Given the description of an element on the screen output the (x, y) to click on. 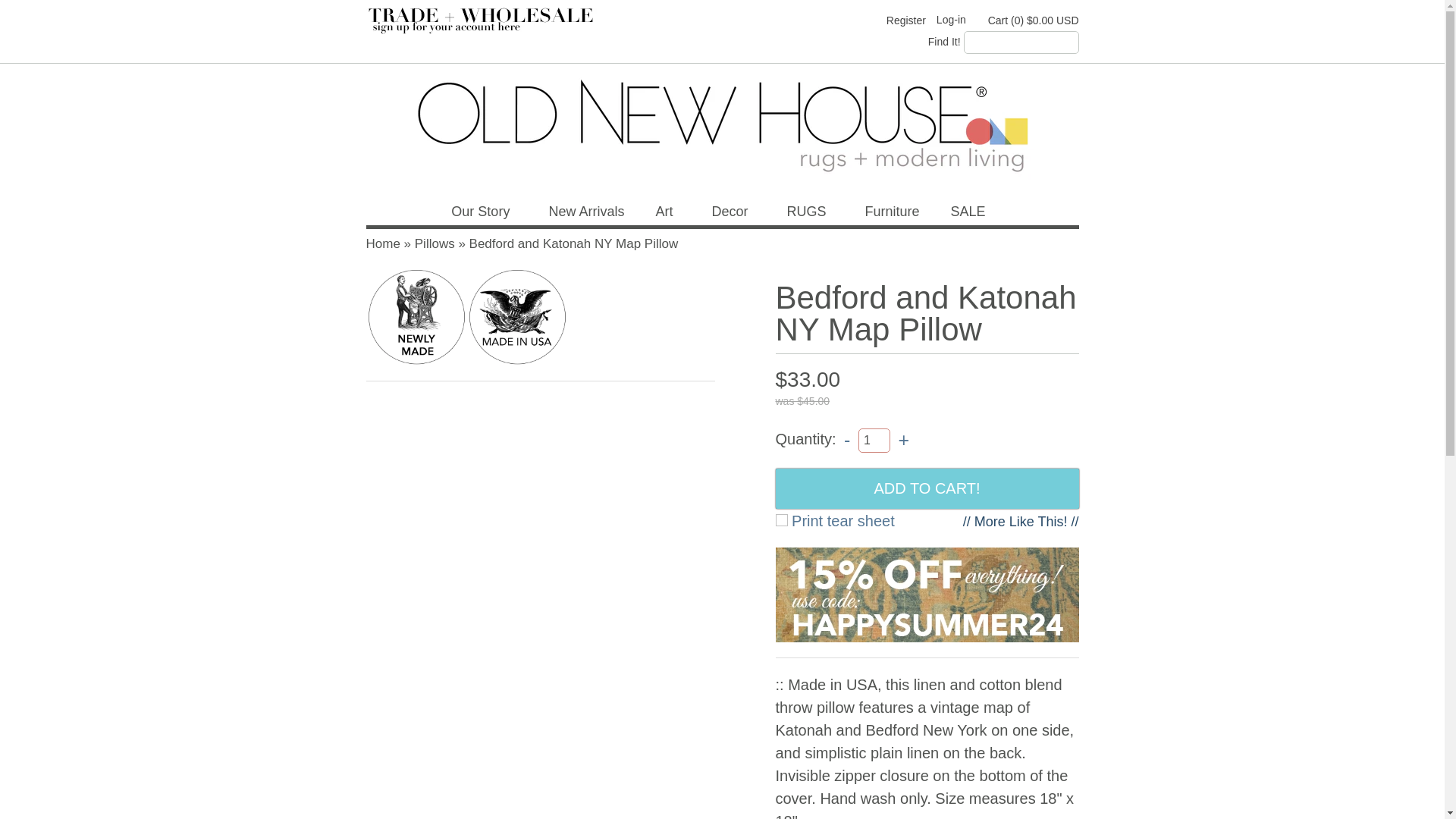
Designer and Wholesale Vintage Rugs (488, 28)
Pinterest (837, 20)
Twitter (812, 20)
Facebook (786, 20)
Log-in (956, 19)
ADD TO CART! (926, 488)
Follow us on Twitter (812, 20)
Register (906, 20)
Instagram (864, 20)
Follow us on Facebook (786, 20)
